Given the description of an element on the screen output the (x, y) to click on. 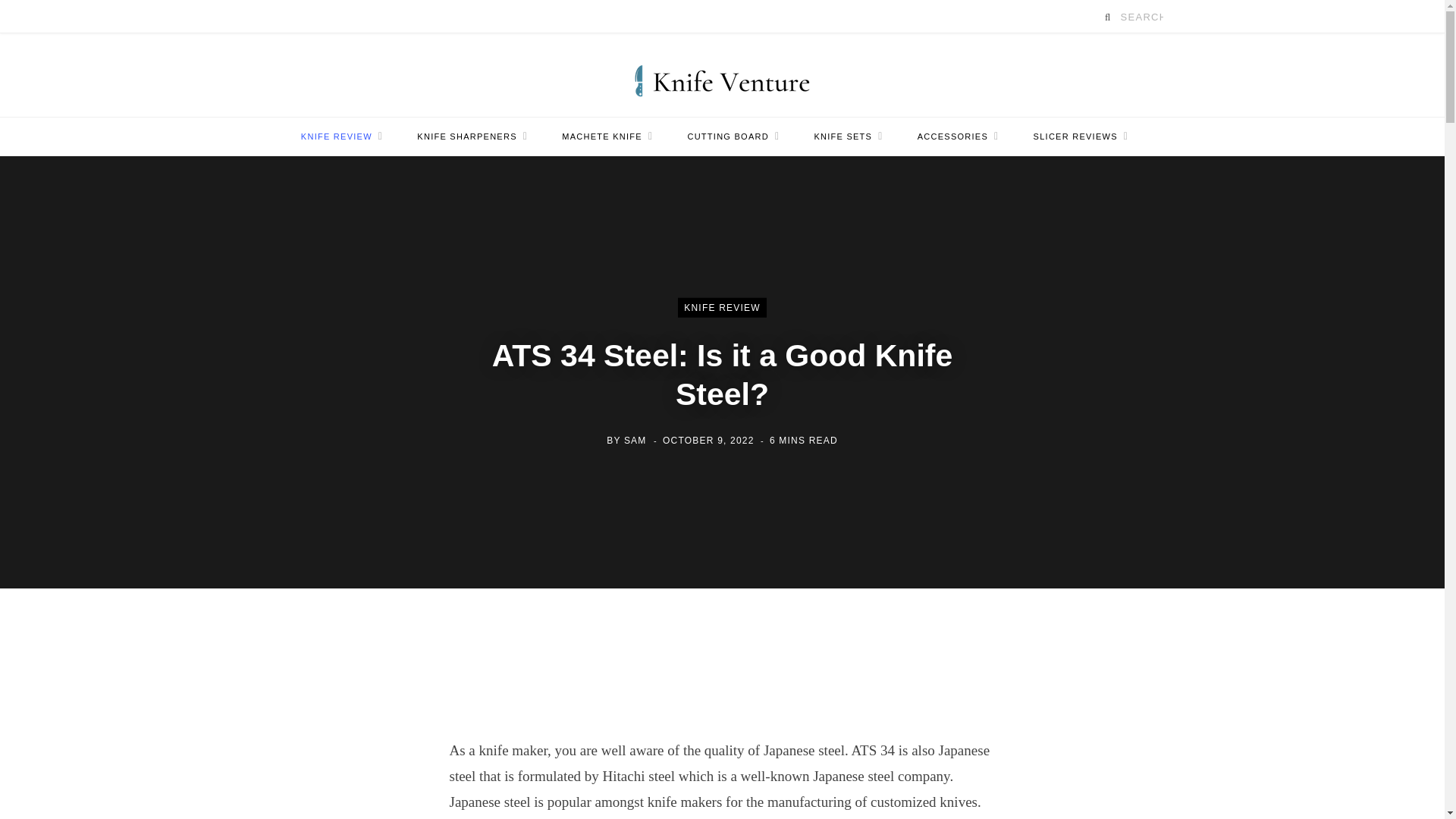
Posts by SAM (635, 439)
Knife Venture (721, 74)
KNIFE REVIEW (341, 136)
